Given the description of an element on the screen output the (x, y) to click on. 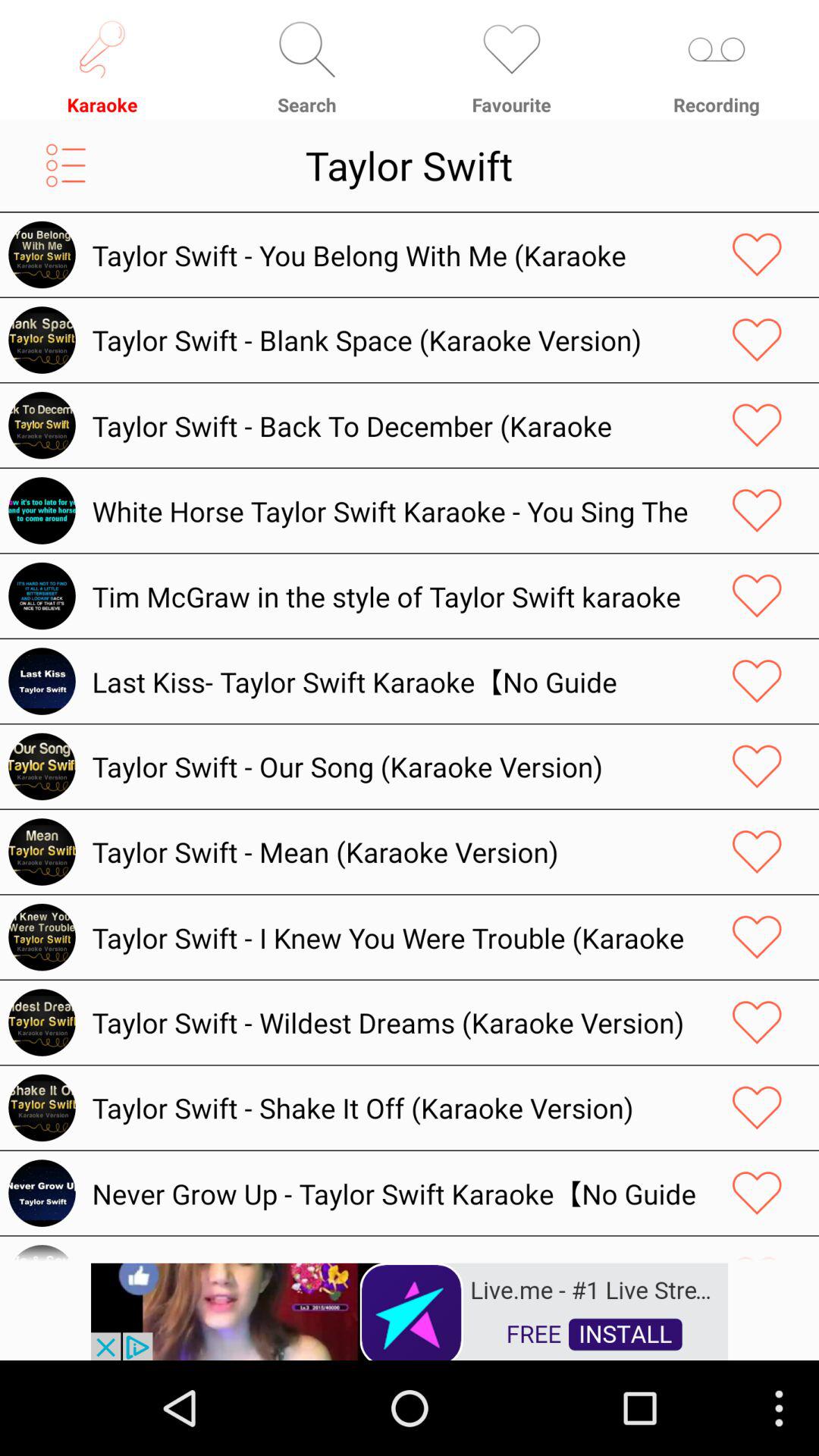
like (756, 1193)
